Given the description of an element on the screen output the (x, y) to click on. 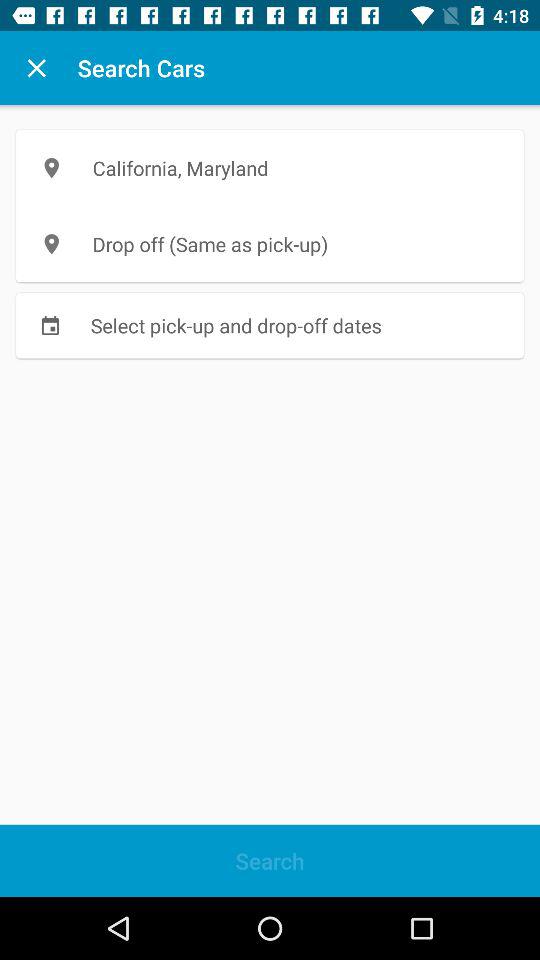
launch icon next to search cars icon (36, 68)
